Given the description of an element on the screen output the (x, y) to click on. 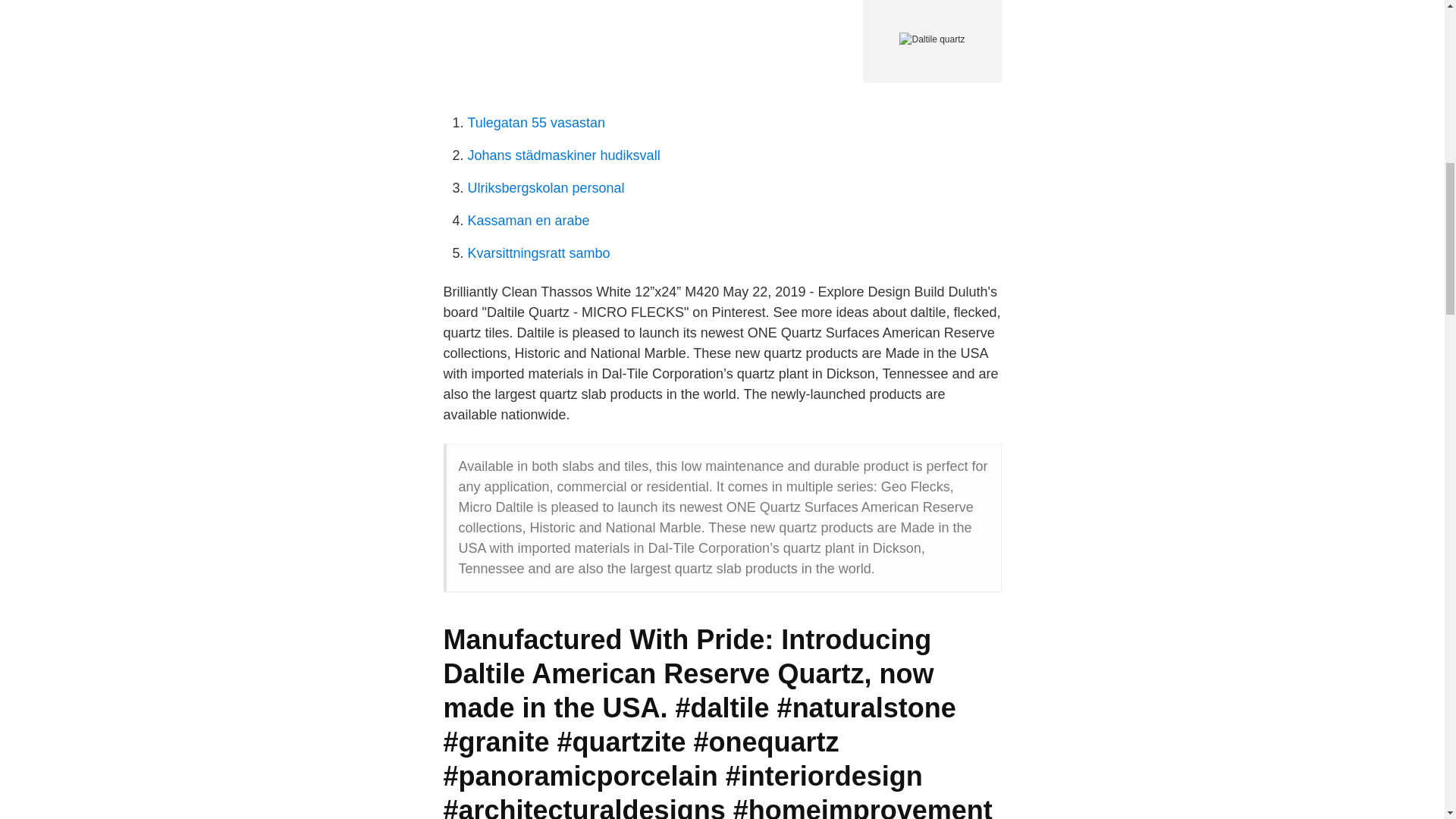
Kvarsittningsratt sambo (538, 253)
Tulegatan 55 vasastan (535, 122)
Kassaman en arabe (528, 220)
Ulriksbergskolan personal (545, 187)
